Given the description of an element on the screen output the (x, y) to click on. 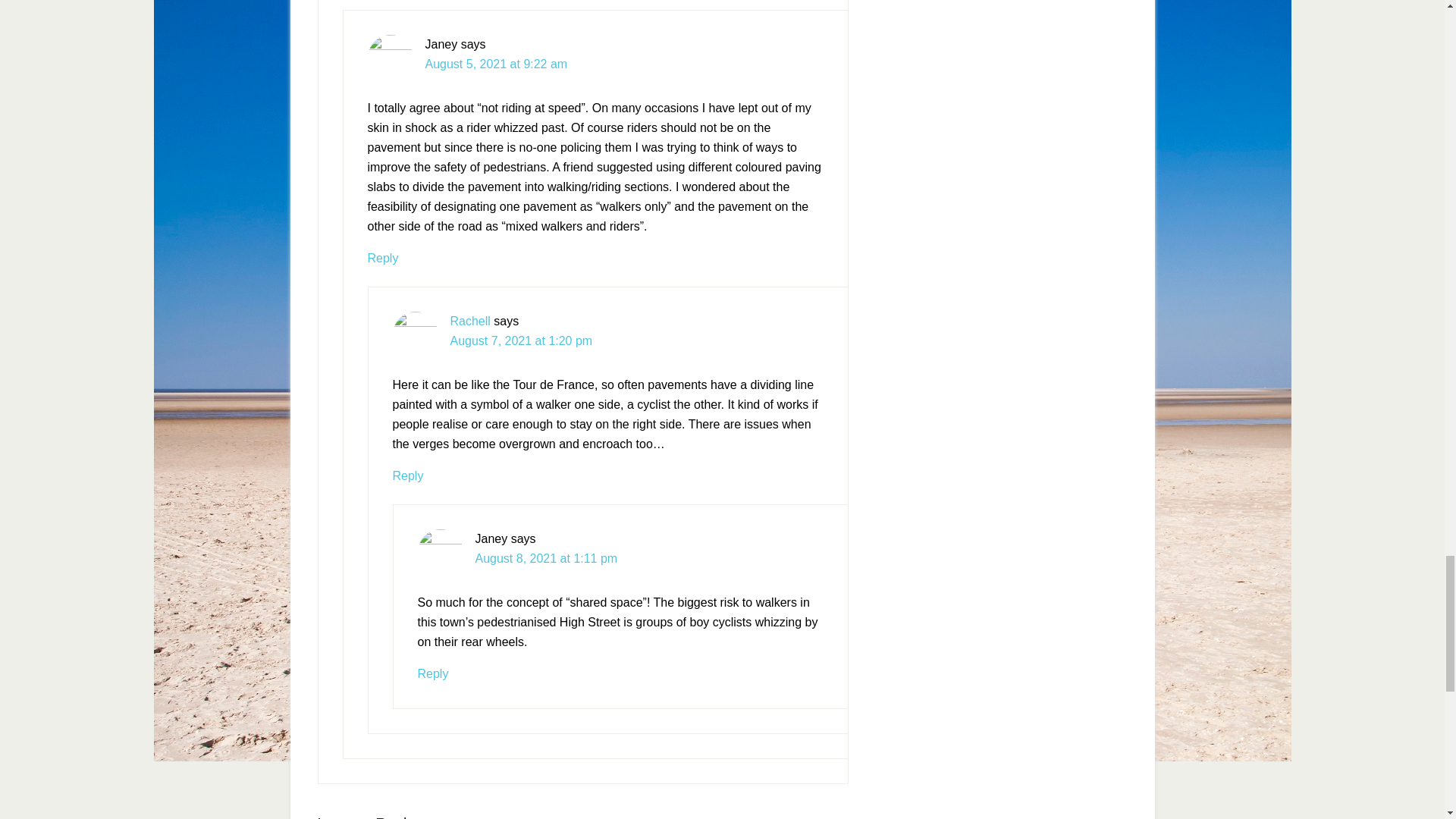
August 7, 2021 at 1:20 pm (520, 340)
Reply (381, 257)
Reply (432, 673)
August 5, 2021 at 9:22 am (496, 63)
August 8, 2021 at 1:11 pm (545, 558)
Reply (408, 475)
Rachell (469, 320)
